Given the description of an element on the screen output the (x, y) to click on. 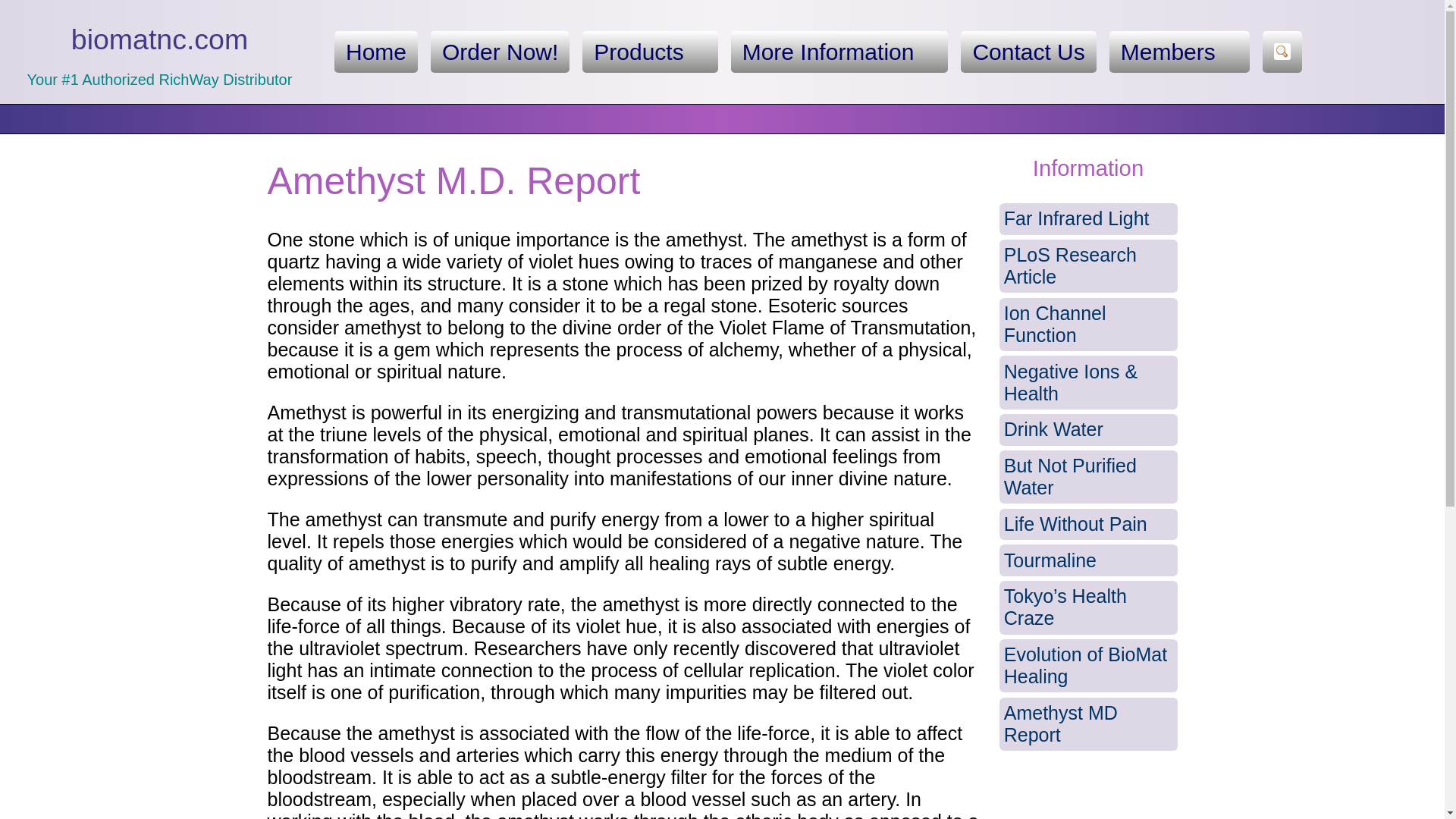
Home (375, 51)
PLoS Research Article (1087, 266)
Order Now! (499, 51)
More Information  (839, 51)
But Not Purified Water (1087, 477)
Contact Us (1028, 51)
Drink Water (1087, 429)
Products  (649, 51)
Ion Channel Function (1087, 325)
Life Without Pain (1087, 524)
Members  (1179, 51)
Far Infrared Light (1087, 219)
